Given the description of an element on the screen output the (x, y) to click on. 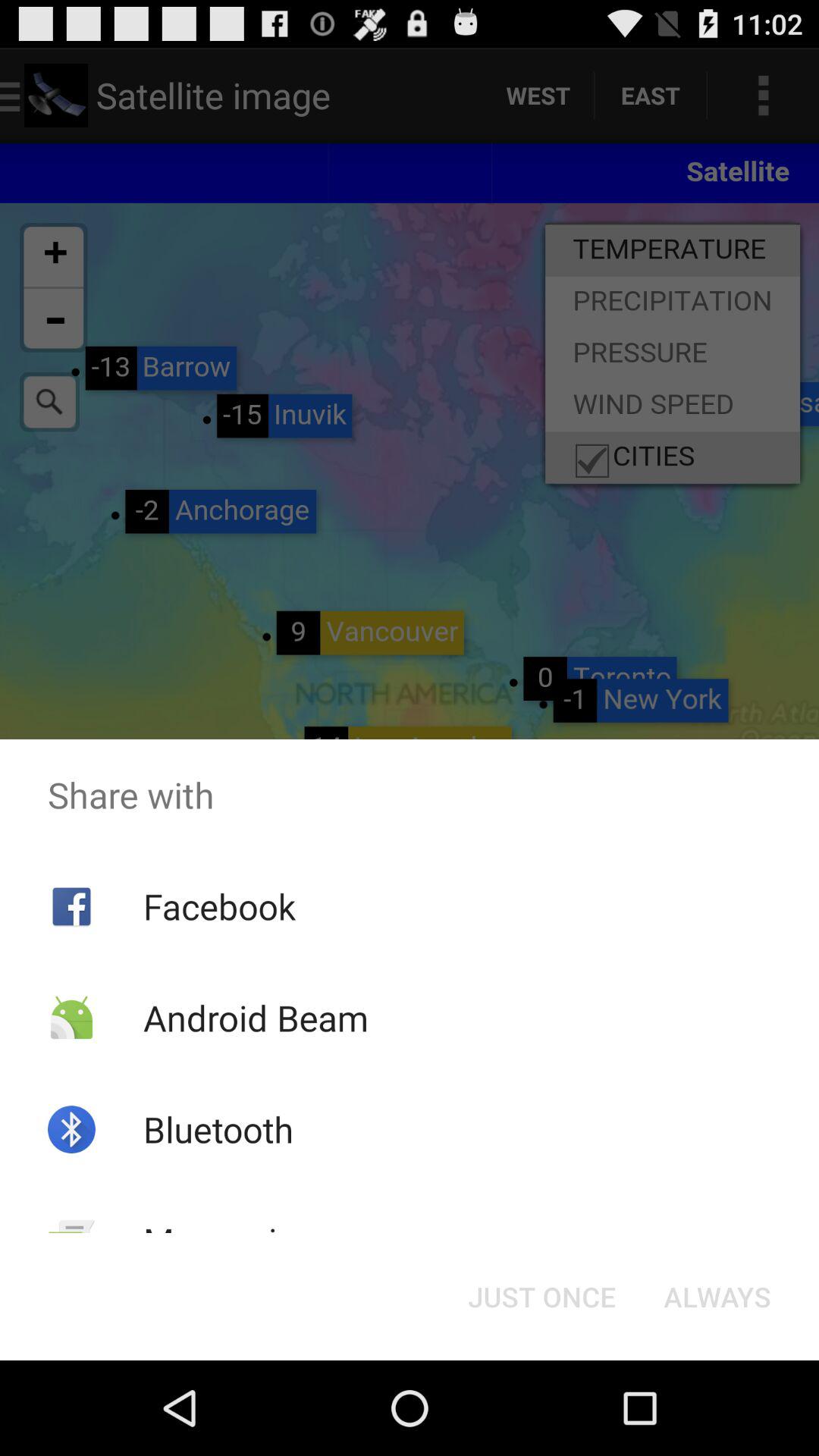
flip to the facebook icon (219, 906)
